Given the description of an element on the screen output the (x, y) to click on. 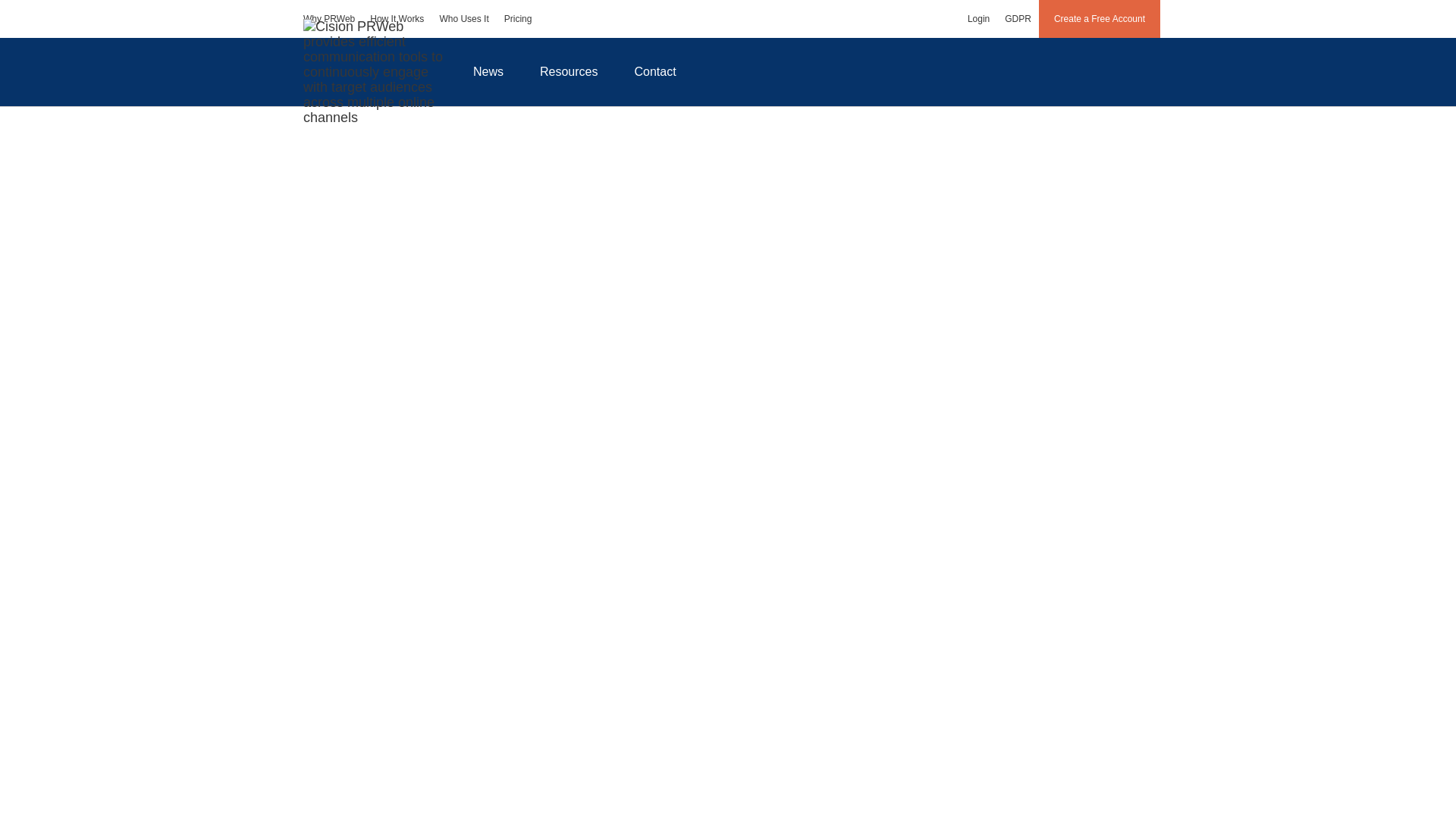
Why PRWeb (328, 18)
Login (978, 18)
Create a Free Account (1099, 18)
How It Works (396, 18)
Resources (568, 71)
News (487, 71)
Pricing (518, 18)
Who Uses It (463, 18)
GDPR (1018, 18)
Contact (654, 71)
